Given the description of an element on the screen output the (x, y) to click on. 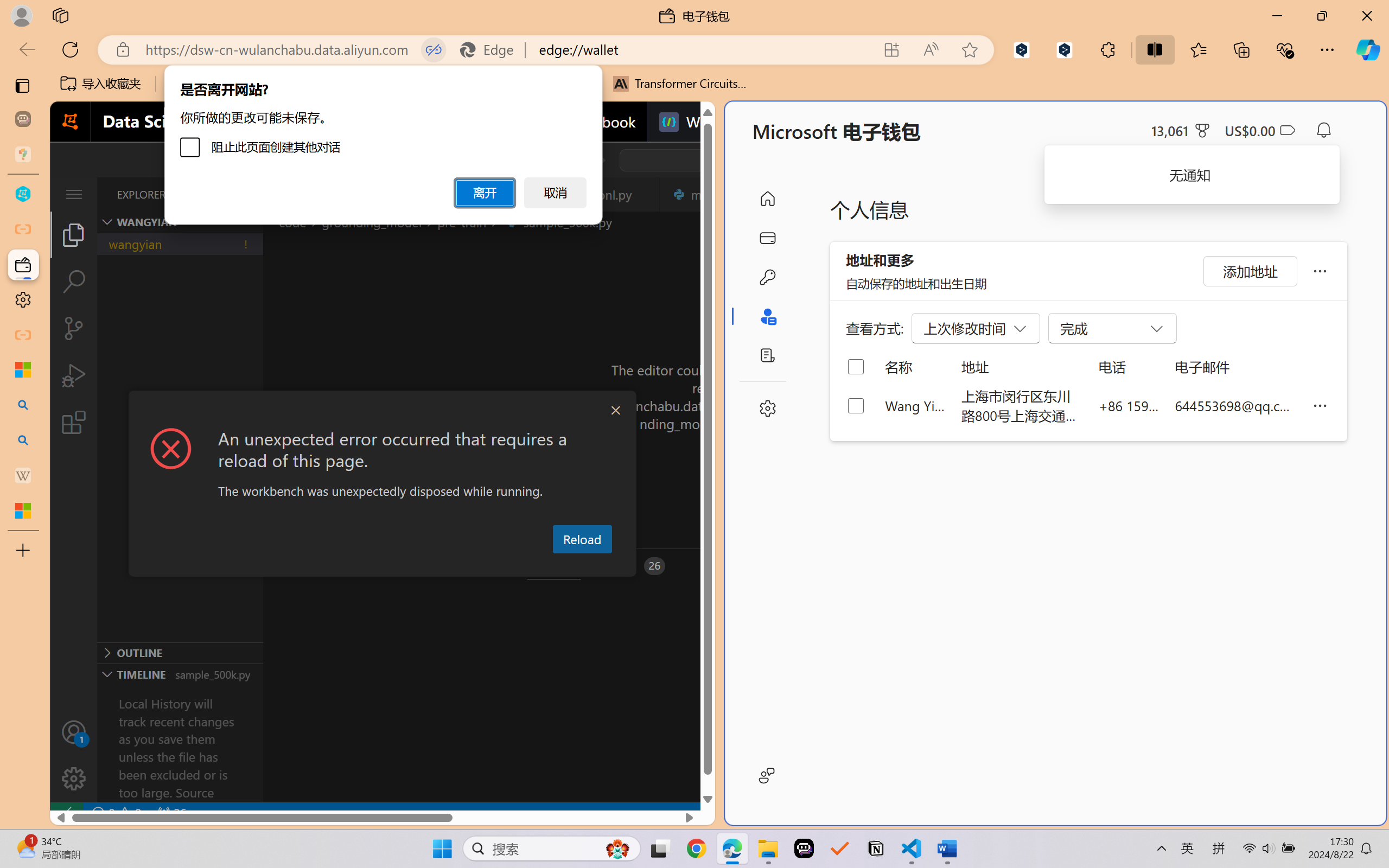
Application Menu (73, 194)
Extensions (Ctrl+Shift+X) (73, 422)
Accounts - Sign in requested (73, 732)
Explorer (Ctrl+Shift+E) (73, 234)
Outline Section (179, 652)
